Given the description of an element on the screen output the (x, y) to click on. 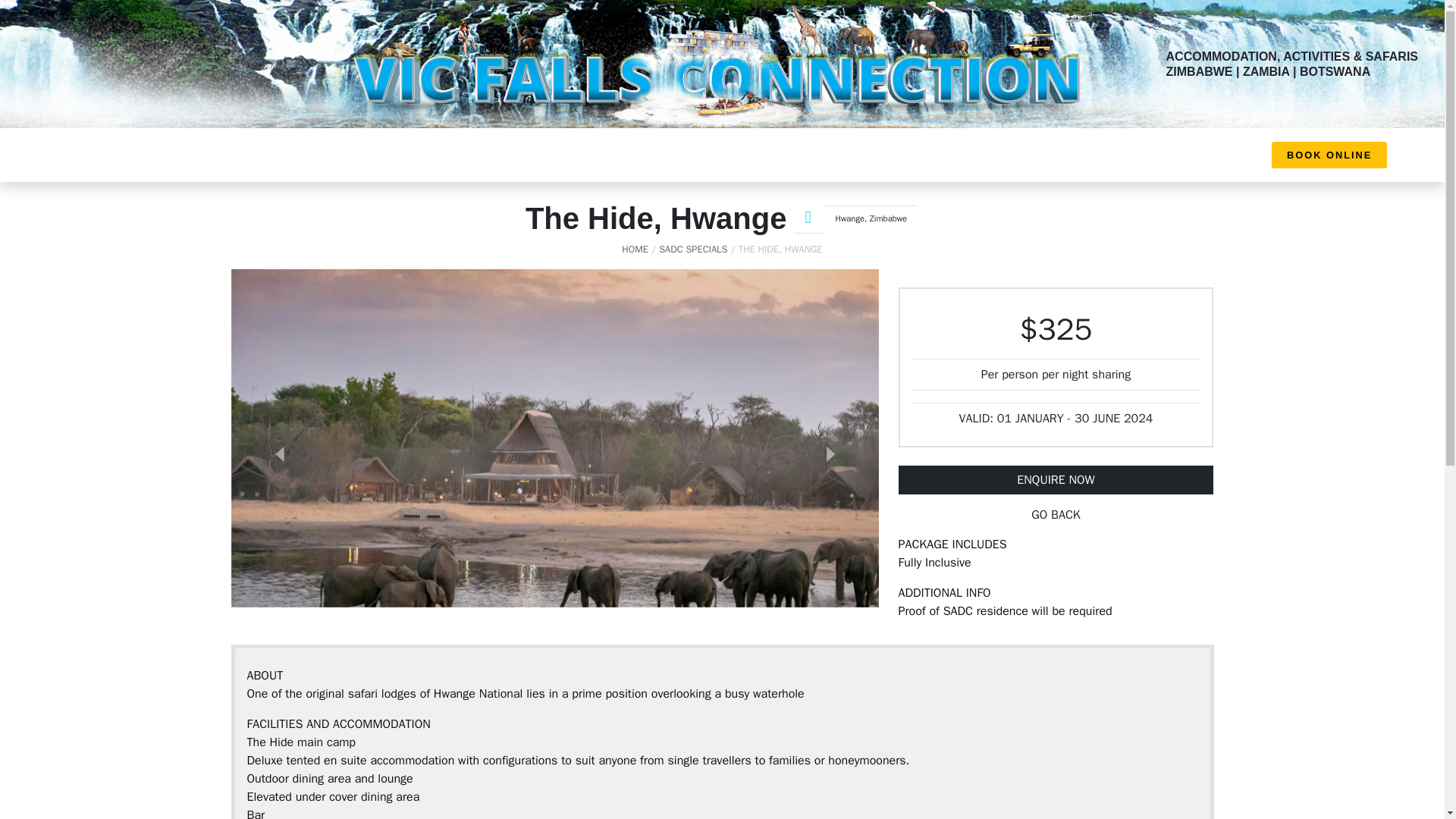
ACTIVITIES (680, 154)
vfc-header-2 (722, 63)
ACCOMMODATION (865, 154)
SPECIALS (955, 154)
HOME (472, 154)
THINGS TO DO (763, 154)
DESTINATIONS (596, 154)
INFO (520, 154)
BOOK ONLINE (1329, 154)
